Given the description of an element on the screen output the (x, y) to click on. 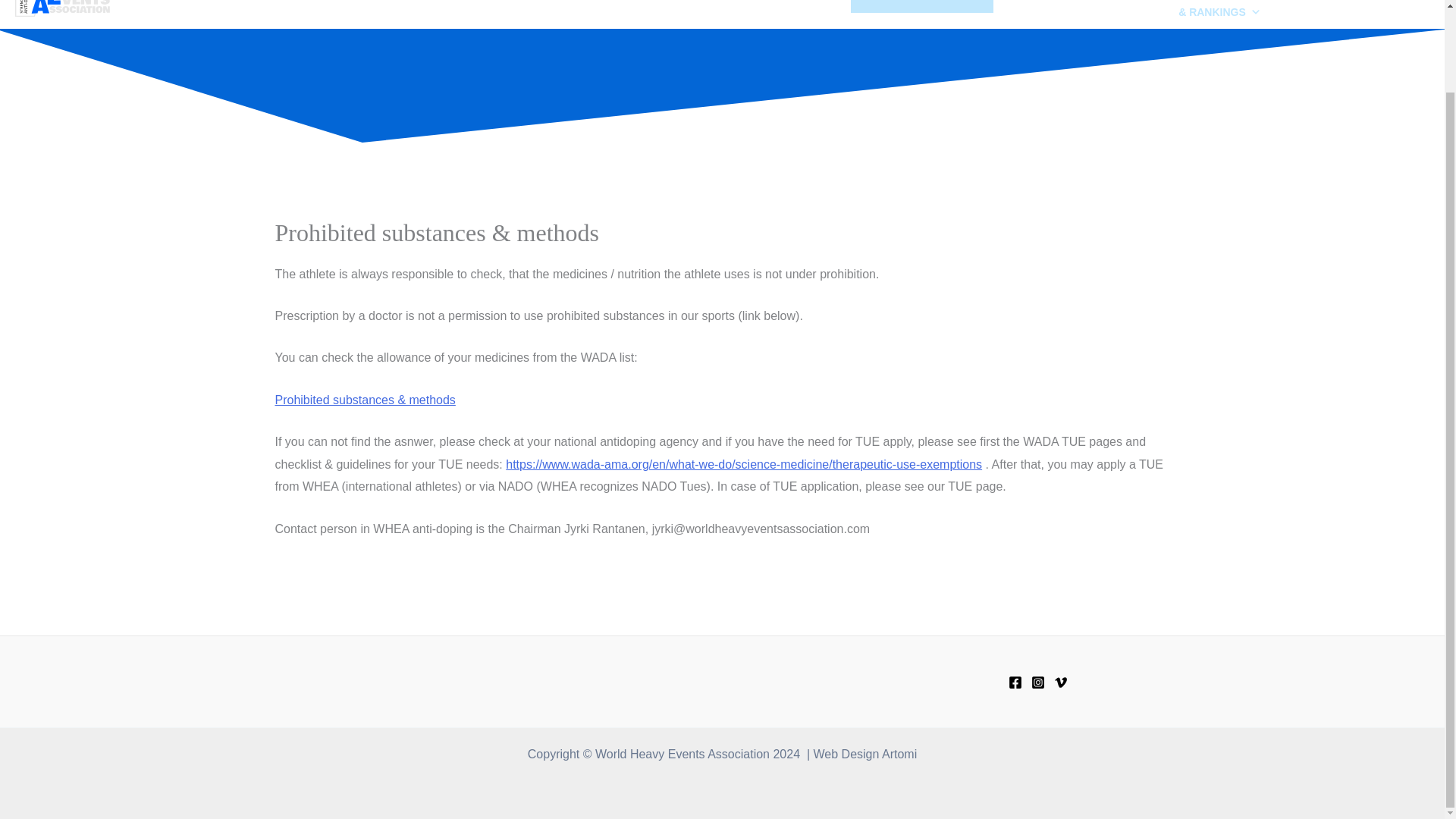
COMPETITIONS (1048, 6)
RULES (806, 6)
